Given the description of an element on the screen output the (x, y) to click on. 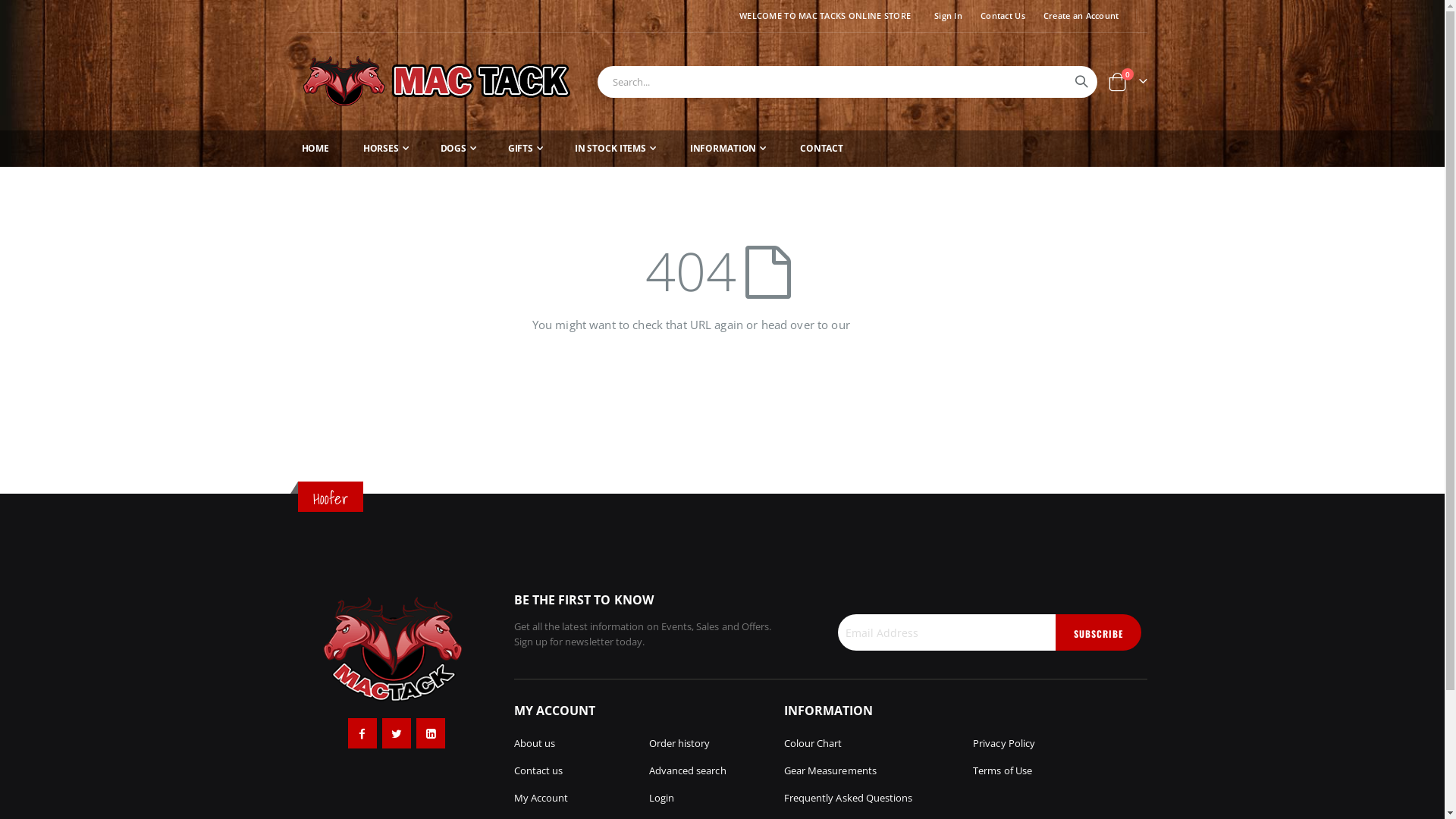
GIFTS Element type: text (525, 148)
Sign In Element type: text (945, 15)
SUBSCRIBE Element type: text (1098, 632)
Terms of Use Element type: text (1002, 770)
Cart
0 Element type: text (1126, 81)
Contact us Element type: text (538, 770)
Linkedin Element type: hover (430, 733)
Gear Measurements Element type: text (830, 770)
Facebook Element type: hover (362, 733)
Create an Account Element type: text (1078, 15)
HOME Element type: text (314, 148)
CONTACT Element type: text (821, 148)
IN STOCK ITEMS Element type: text (615, 148)
Frequently Asked Questions Element type: text (848, 797)
Search Element type: hover (1080, 81)
Privacy Policy Element type: text (1003, 742)
Colour Chart Element type: text (813, 742)
Twitter Element type: hover (396, 733)
About us Element type: text (534, 742)
Advanced search Element type: text (687, 770)
Mac Tack Element type: hover (440, 81)
Order history Element type: text (679, 742)
Login Element type: text (661, 797)
homepage. Element type: text (882, 324)
Contact Us Element type: text (999, 15)
My Account Element type: text (541, 797)
DOGS Element type: text (458, 148)
HORSES Element type: text (385, 148)
INFORMATION Element type: text (728, 148)
